Given the description of an element on the screen output the (x, y) to click on. 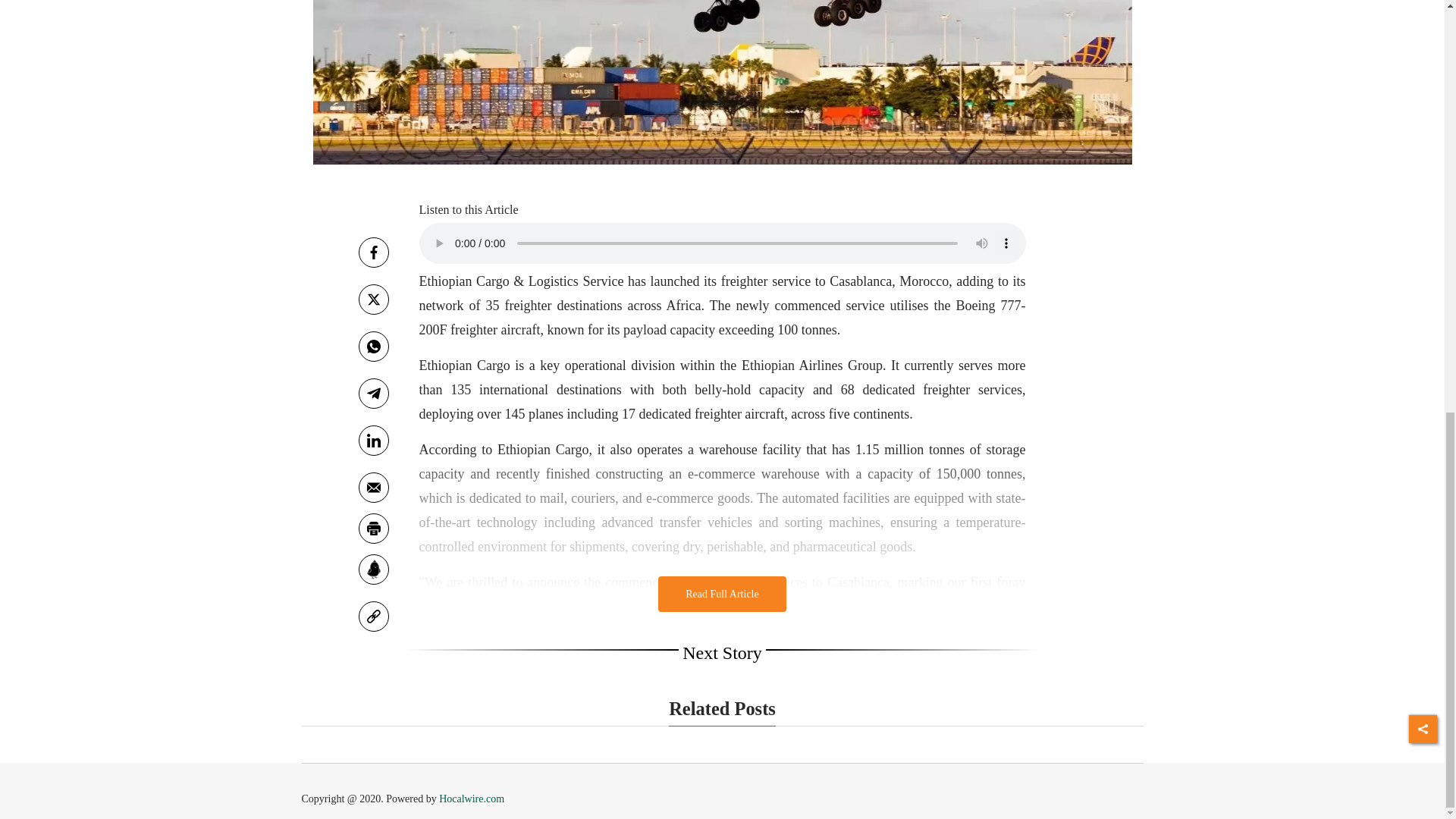
Share by Email (373, 487)
LinkedIn (373, 440)
